Given the description of an element on the screen output the (x, y) to click on. 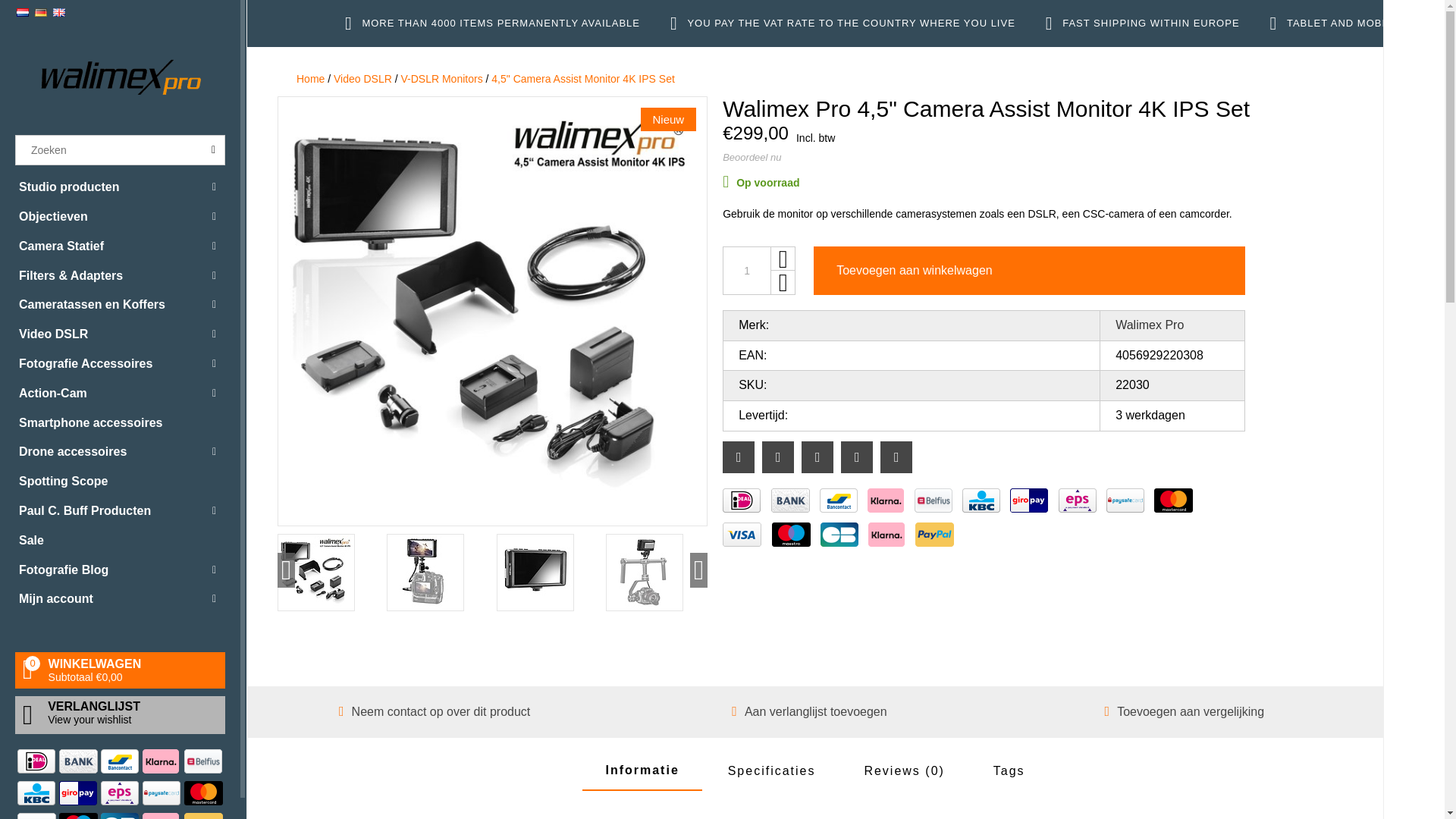
1 (746, 270)
Deutsch (40, 12)
Studio producten (119, 187)
Studio producten (119, 187)
Nederlands (22, 12)
English (58, 12)
